Given the description of an element on the screen output the (x, y) to click on. 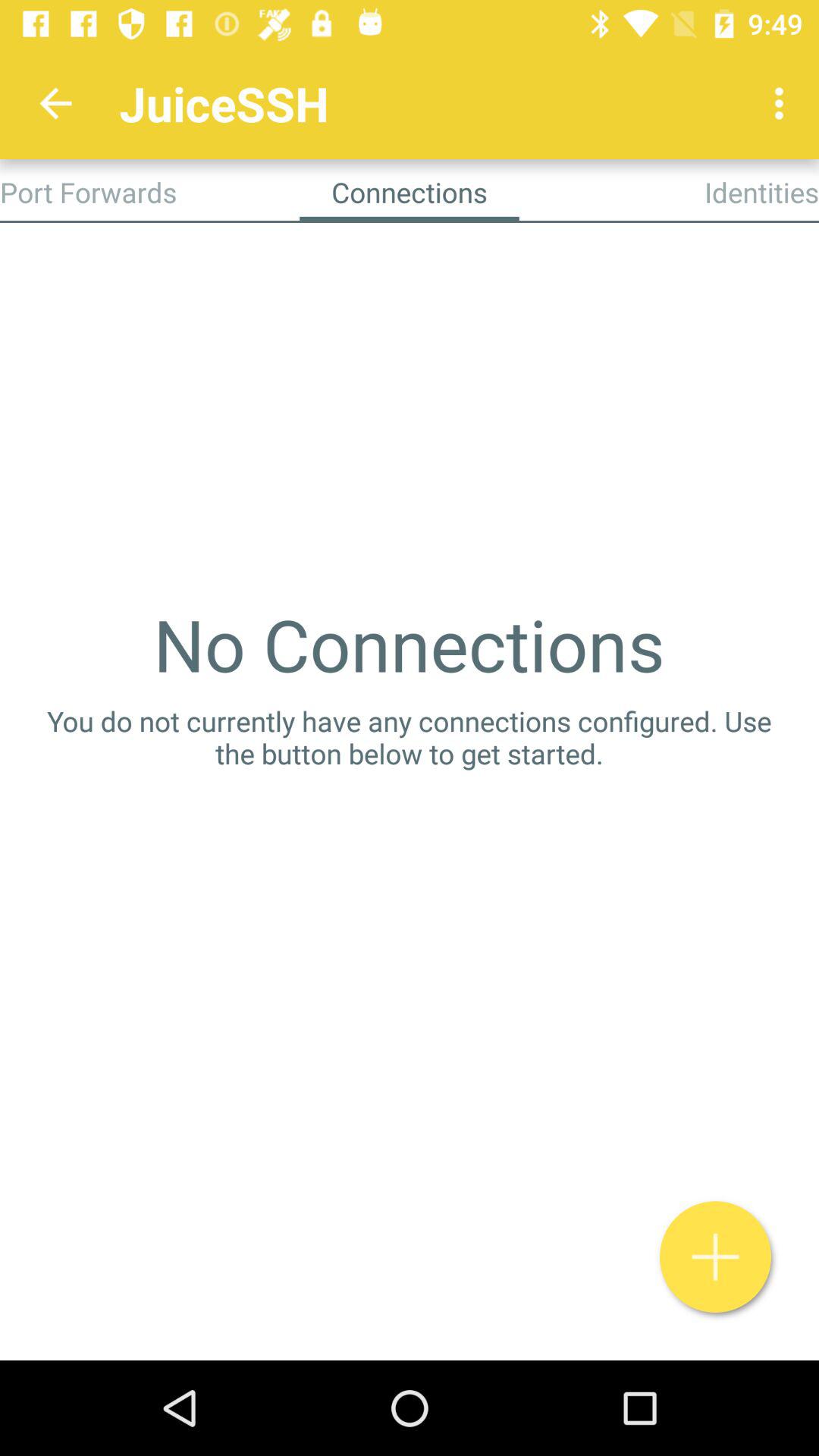
select icon next to connections (761, 192)
